Given the description of an element on the screen output the (x, y) to click on. 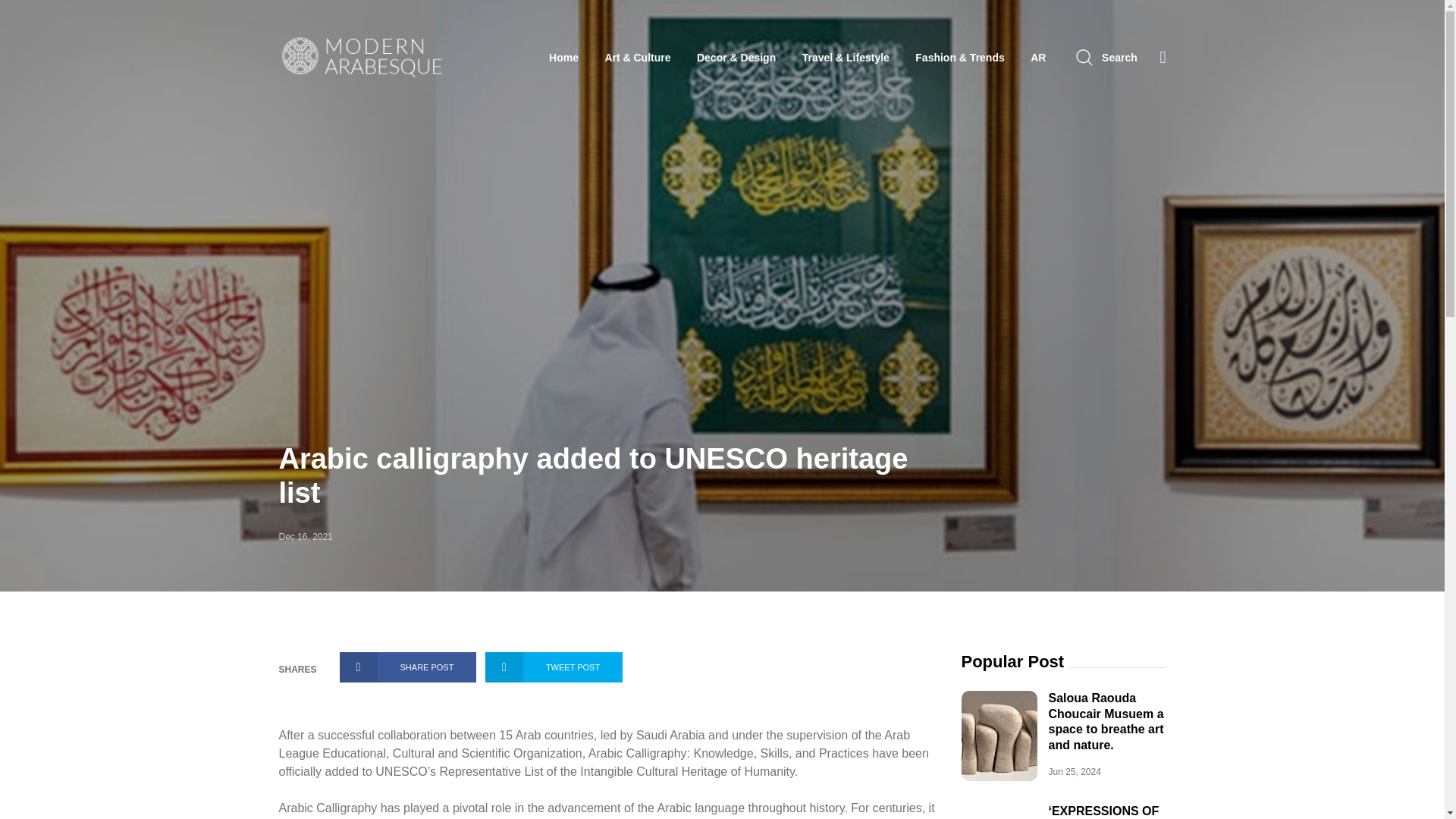
TWEET POST (553, 666)
AR (1038, 57)
SHARE POST (408, 666)
Home (563, 57)
Arabic calligraphy added to UNESCO heritage list (593, 476)
